Given the description of an element on the screen output the (x, y) to click on. 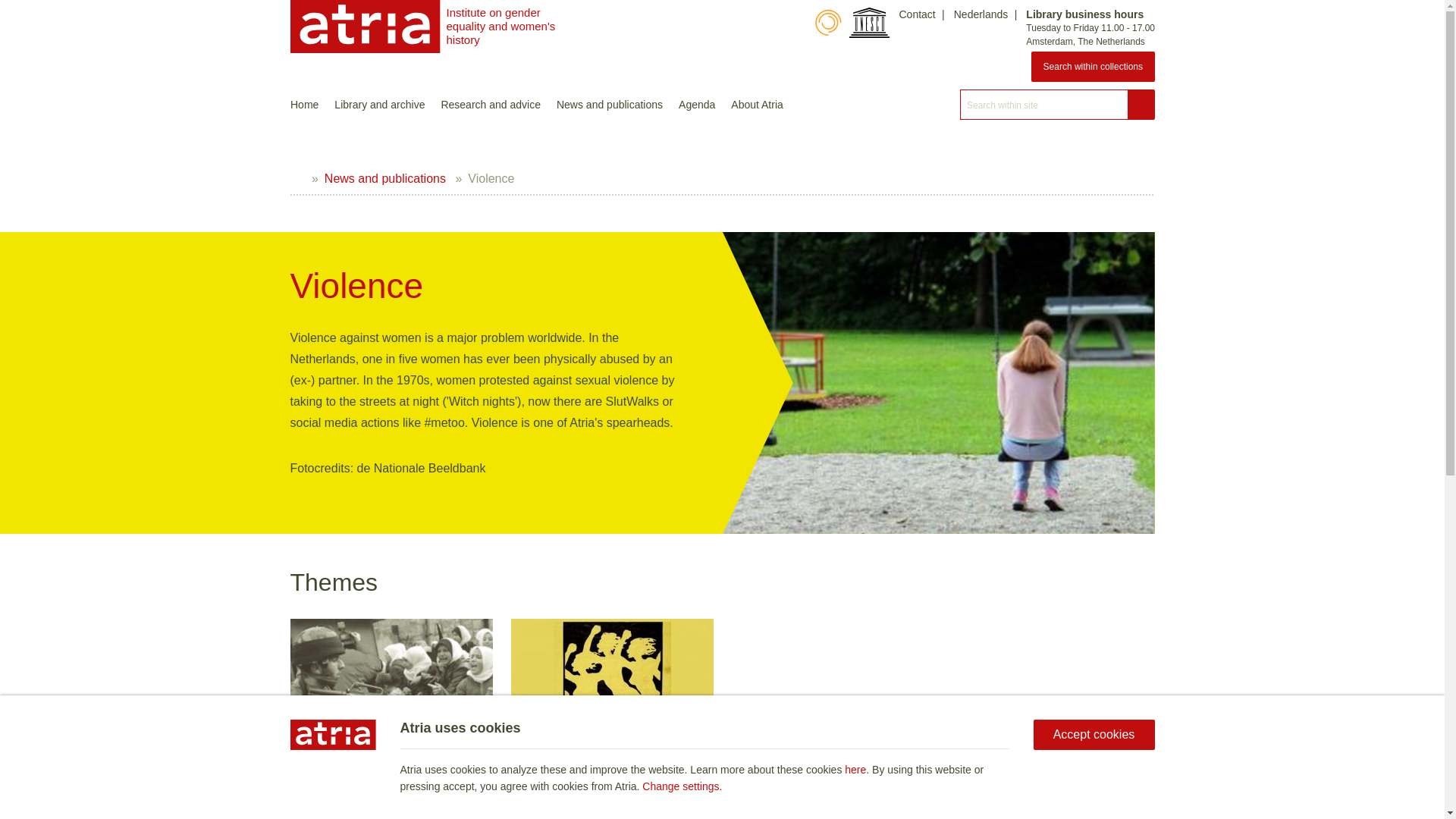
War (390, 679)
Contact (916, 14)
Memory of the World (827, 22)
Collections (1092, 66)
Library and archive (379, 103)
Atria (364, 26)
Unesco (868, 22)
Violence against women (612, 679)
Research and advice (490, 103)
